Given the description of an element on the screen output the (x, y) to click on. 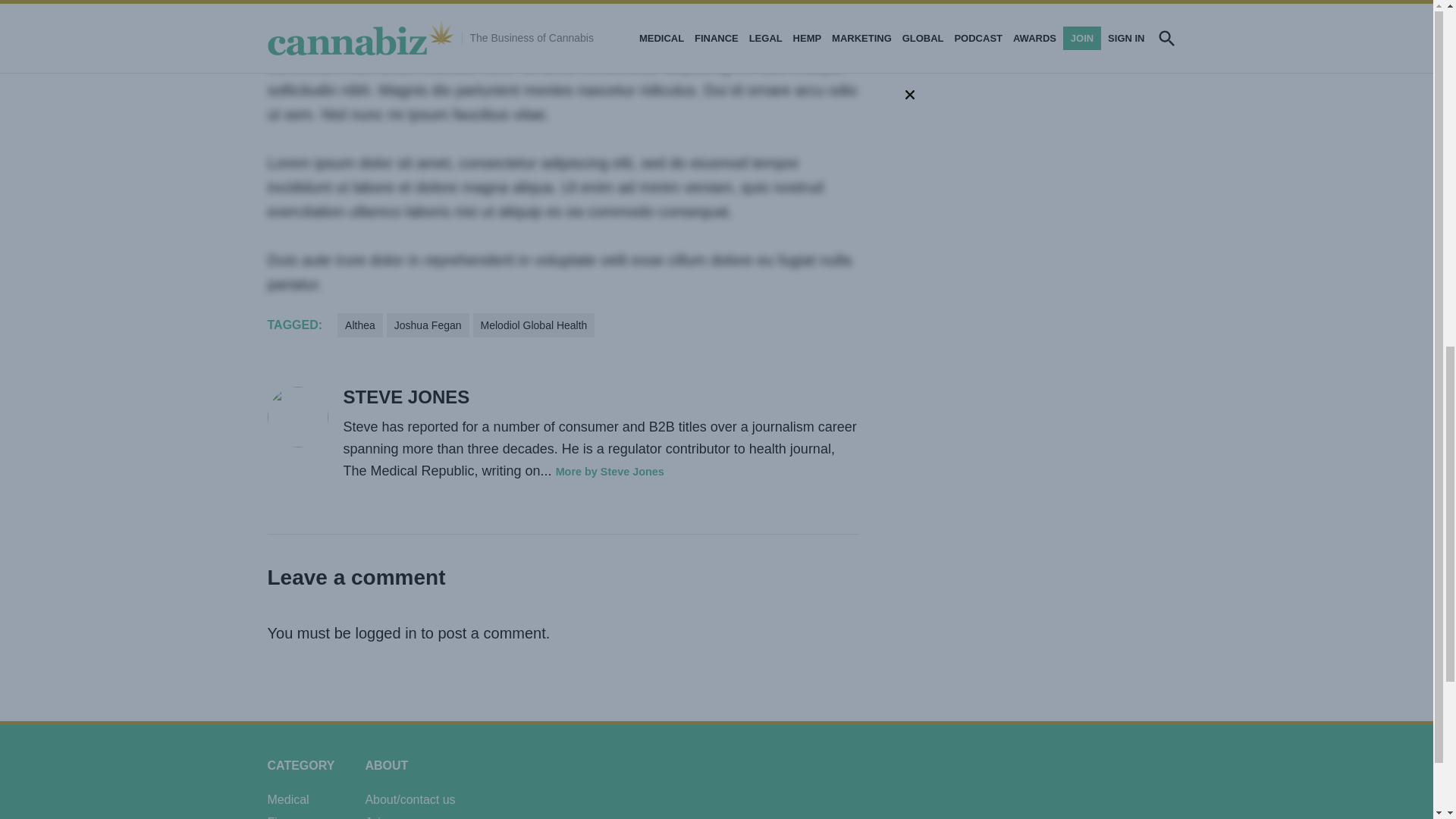
Joshua Fegan (427, 324)
Althea (359, 324)
Join (521, 11)
Melodiol Global Health (534, 324)
login (602, 11)
